Given the description of an element on the screen output the (x, y) to click on. 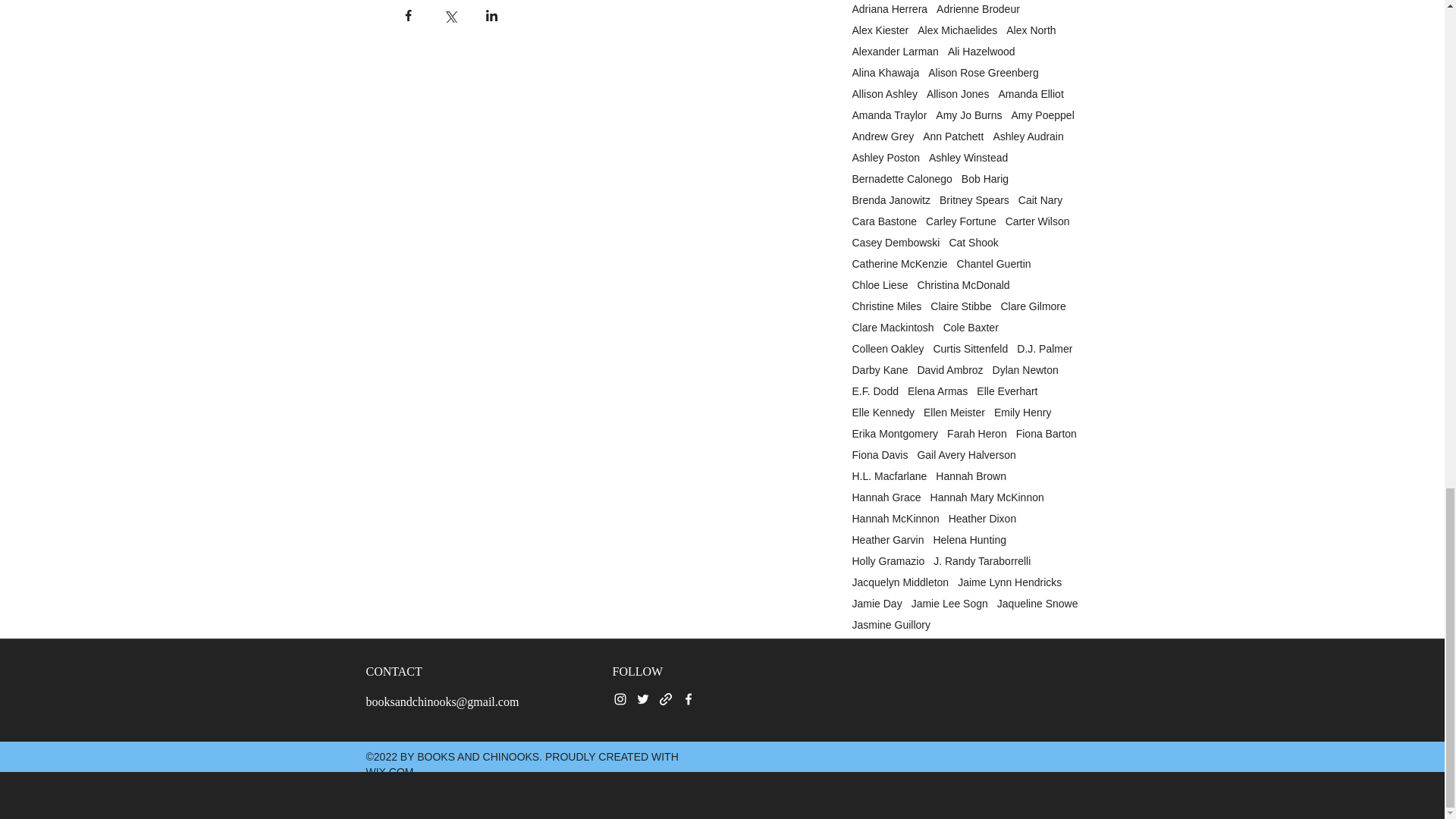
Ashley Audrain (1027, 136)
Andrew Grey (882, 136)
Alexander Larman (895, 51)
Allison Jones (958, 93)
Alina Khawaja (885, 72)
Alex Kiester (879, 30)
Ann Patchett (953, 136)
Alex Michaelides (957, 30)
Alison Rose Greenberg (983, 72)
Amy Poeppel (1042, 114)
Amanda Elliot (1029, 93)
Amanda Traylor (889, 114)
Adrienne Brodeur (978, 9)
Ali Hazelwood (980, 51)
Adriana Herrera (889, 9)
